Given the description of an element on the screen output the (x, y) to click on. 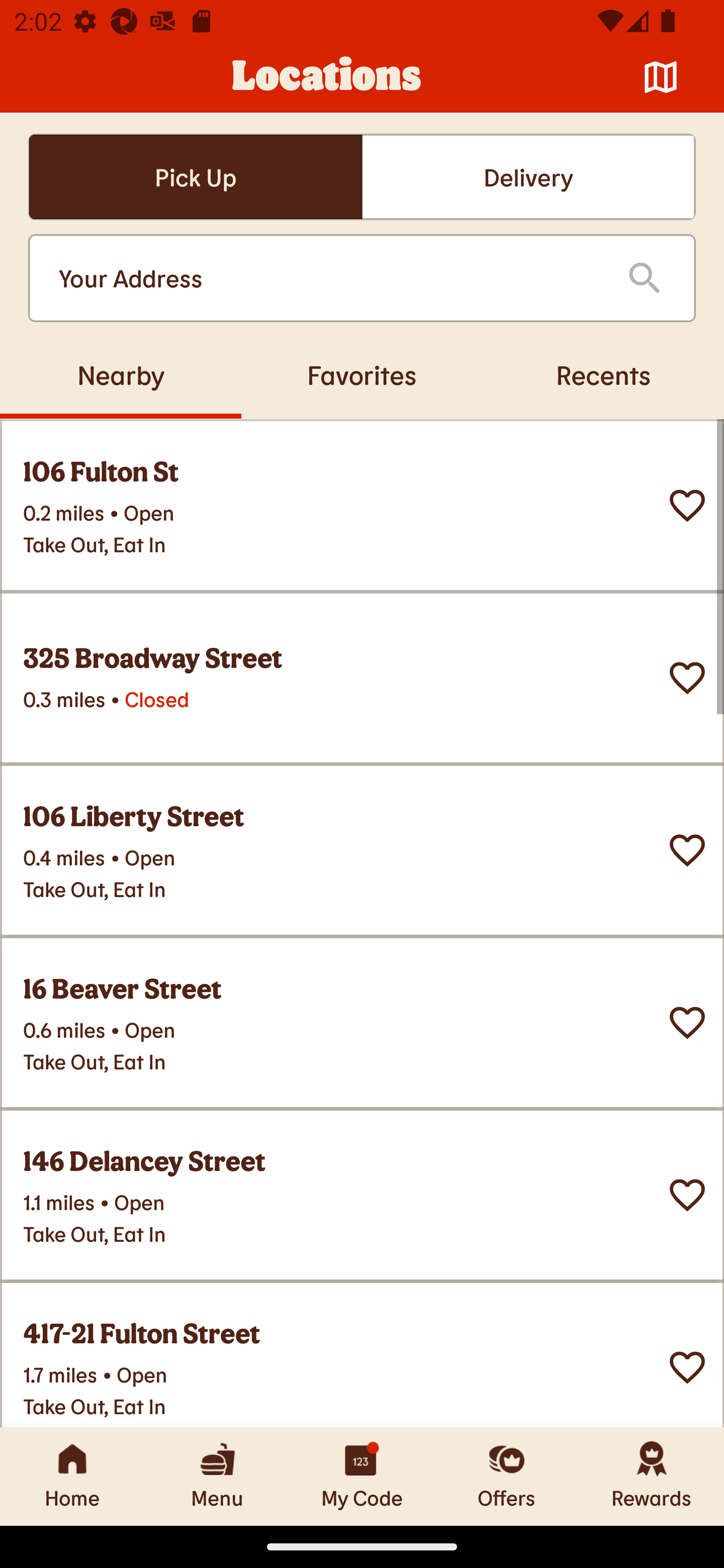
Map 󰦂 (660, 77)
Locations (326, 77)
Pick UpSelected Pick UpSelected Pick Up (195, 176)
Delivery Delivery Delivery (528, 176)
Your Address (327, 277)
Nearby (120, 374)
Favorites (361, 374)
Recents (603, 374)
Set this restaurant as a favorite  (687, 505)
Set this restaurant as a favorite  (687, 677)
Set this restaurant as a favorite  (687, 850)
Set this restaurant as a favorite  (687, 1022)
Set this restaurant as a favorite  (687, 1195)
Set this restaurant as a favorite  (687, 1367)
Home (72, 1475)
Menu (216, 1475)
My Code (361, 1475)
Offers (506, 1475)
Rewards (651, 1475)
